Given the description of an element on the screen output the (x, y) to click on. 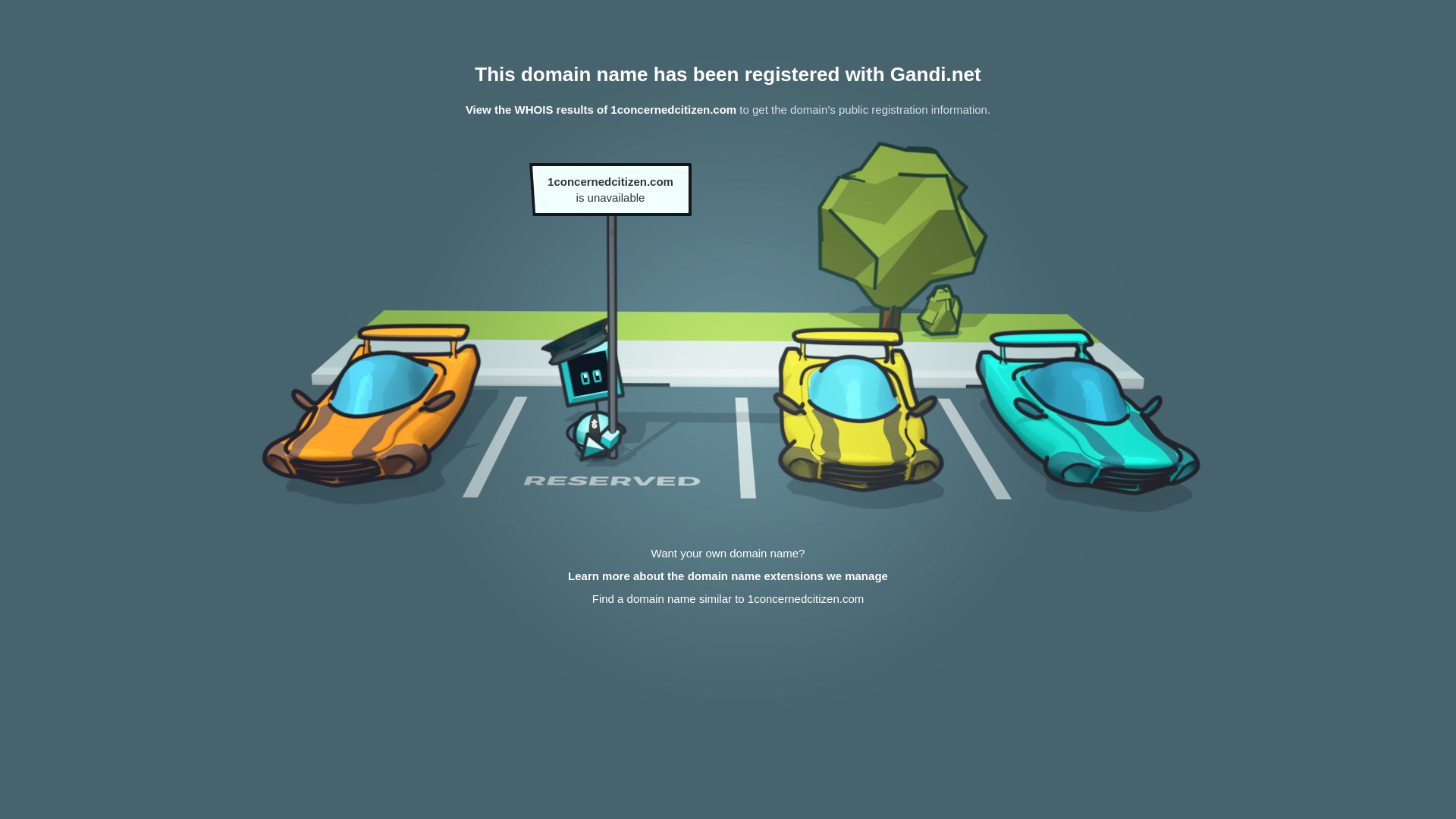
Find a domain name similar to 1concernedcitizen.com Element type: text (728, 598)
Learn more about the domain name extensions we manage Element type: text (727, 575)
View the WHOIS results of 1concernedcitizen.com Element type: text (600, 109)
